Given the description of an element on the screen output the (x, y) to click on. 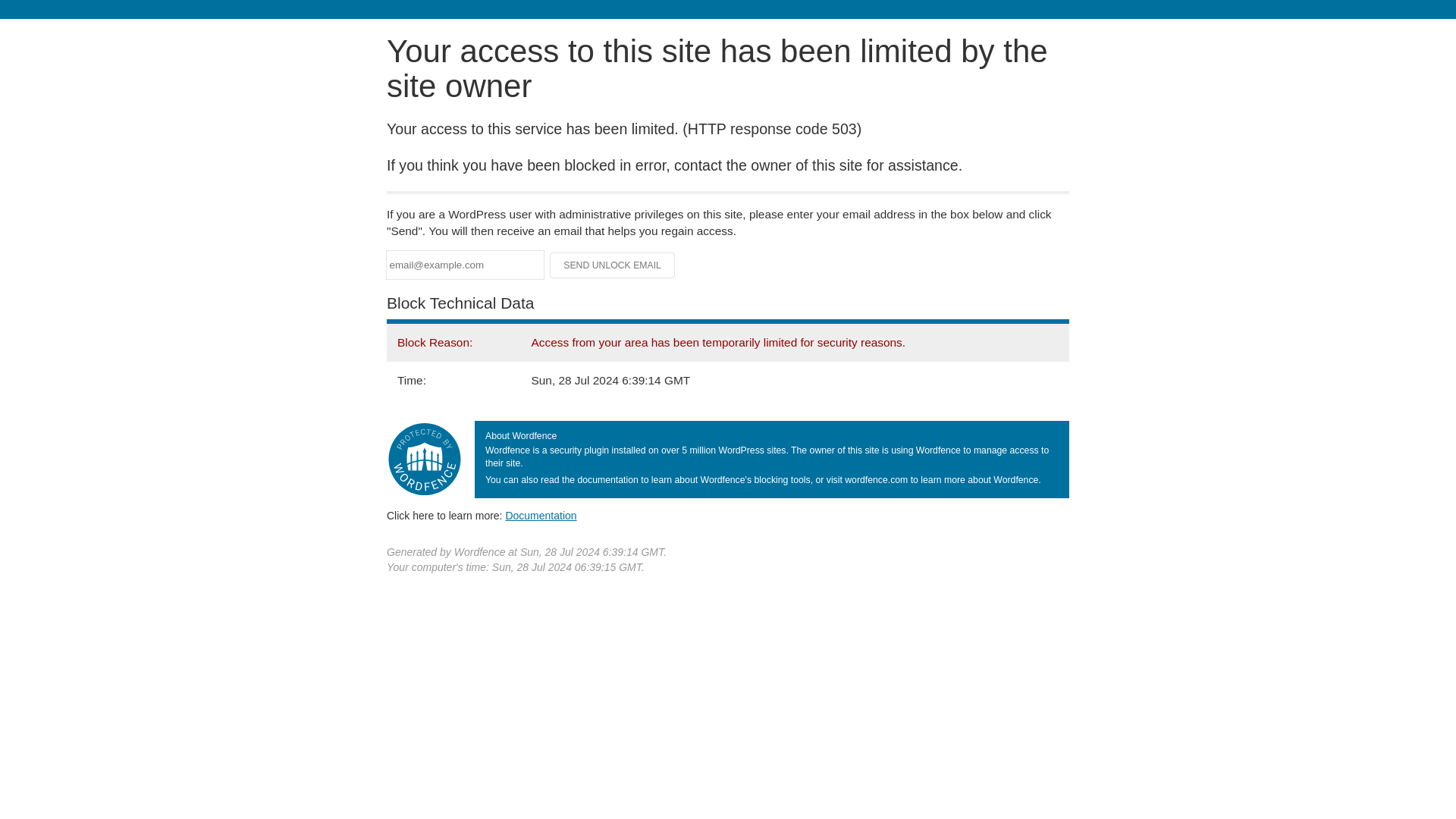
Documentation (540, 515)
Send Unlock Email (612, 265)
Send Unlock Email (612, 265)
